Given the description of an element on the screen output the (x, y) to click on. 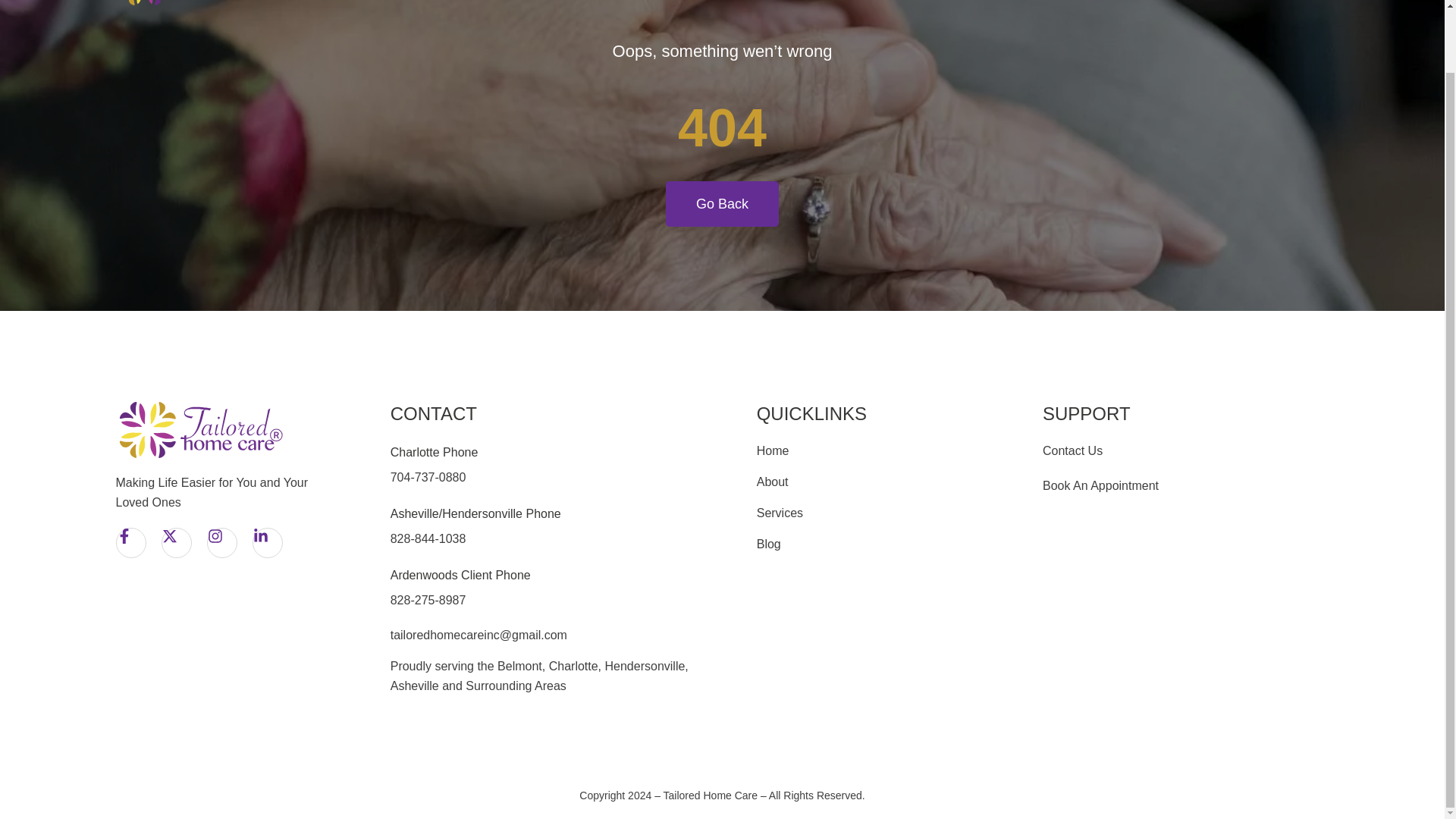
828-844-1038 (427, 538)
Charlotte Phone (434, 451)
Blog (1297, 0)
704-737-0880 (427, 477)
Go Back (721, 203)
